Given the description of an element on the screen output the (x, y) to click on. 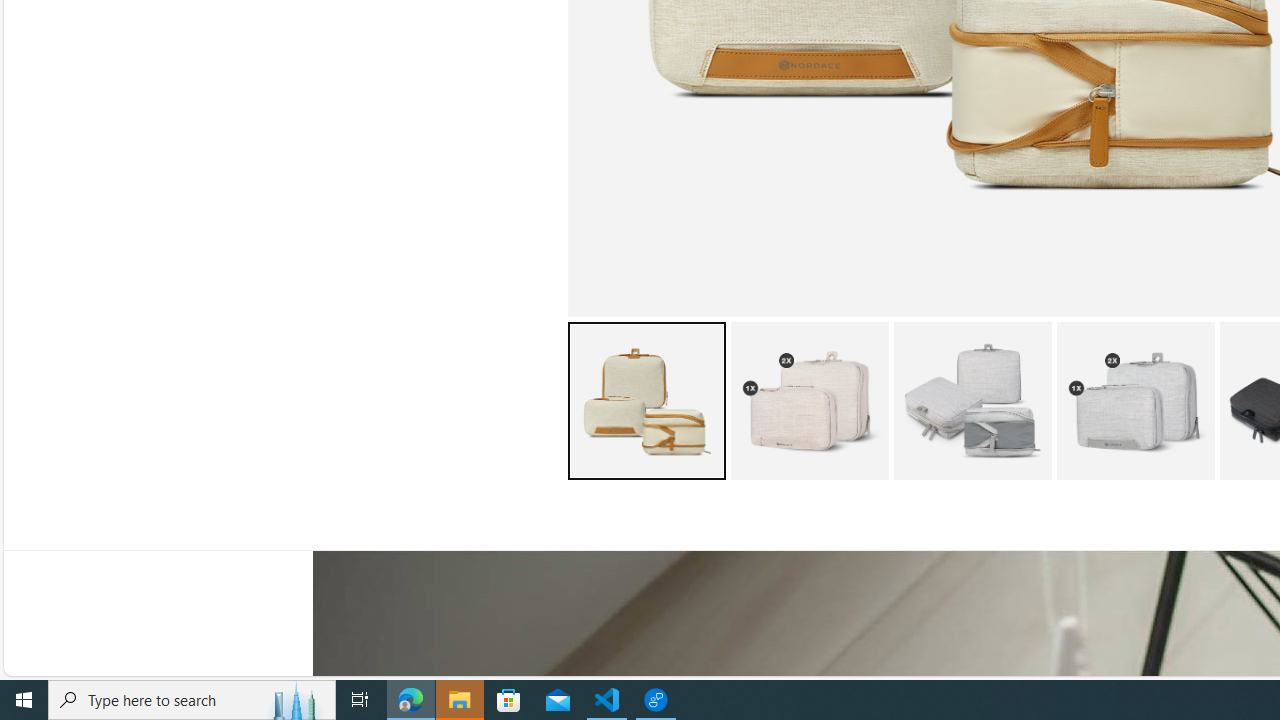
Pack-It-All Bundle: 2x Packing Cubes & 1x Wash Pouch (1135, 400)
